Given the description of an element on the screen output the (x, y) to click on. 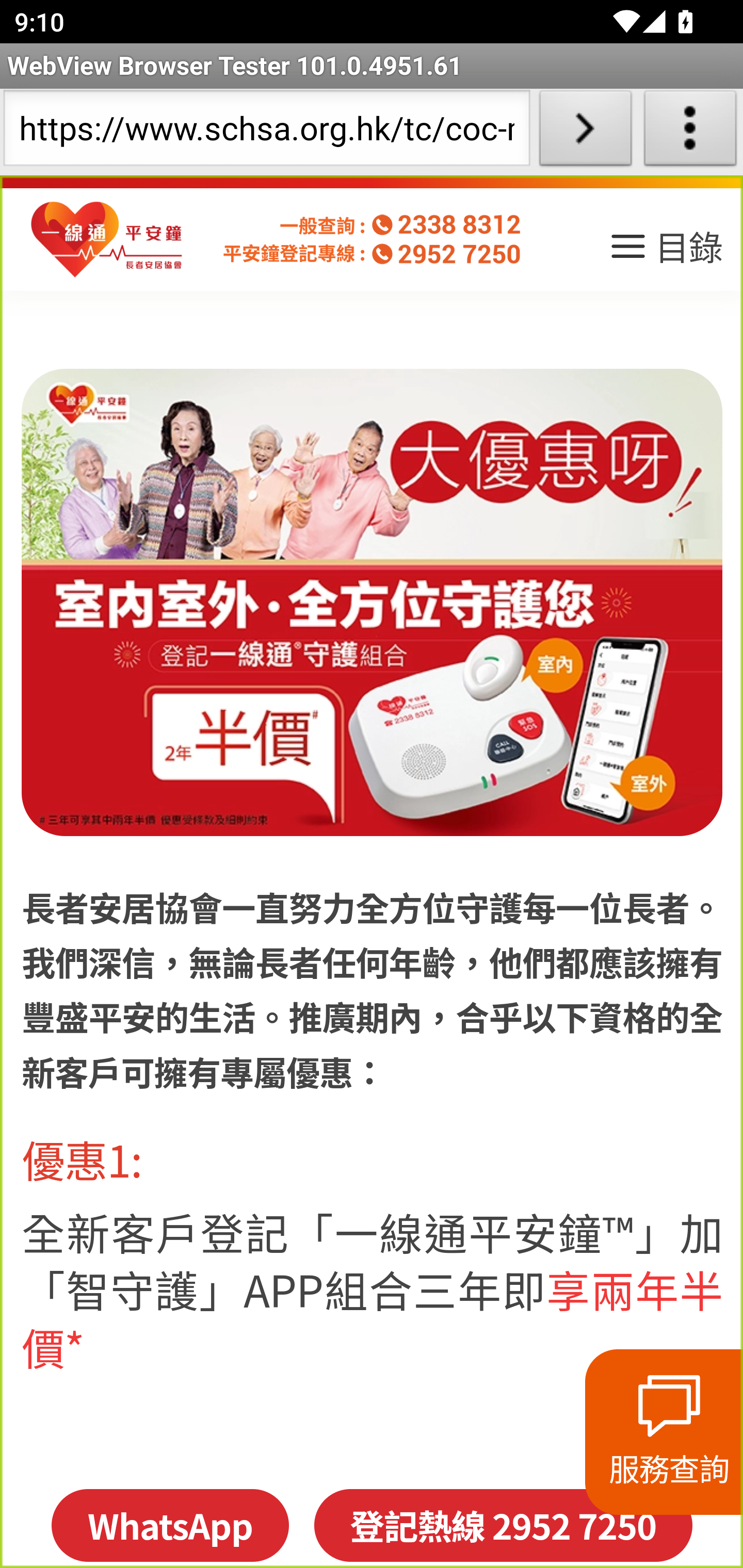
Load URL (585, 132)
About WebView (690, 132)
homepage (107, 240)
目錄 (665, 252)
服務查詢 (664, 1432)
WhatsApp (169, 1525)
登記熱線 2952 7250 (502, 1525)
